Given the description of an element on the screen output the (x, y) to click on. 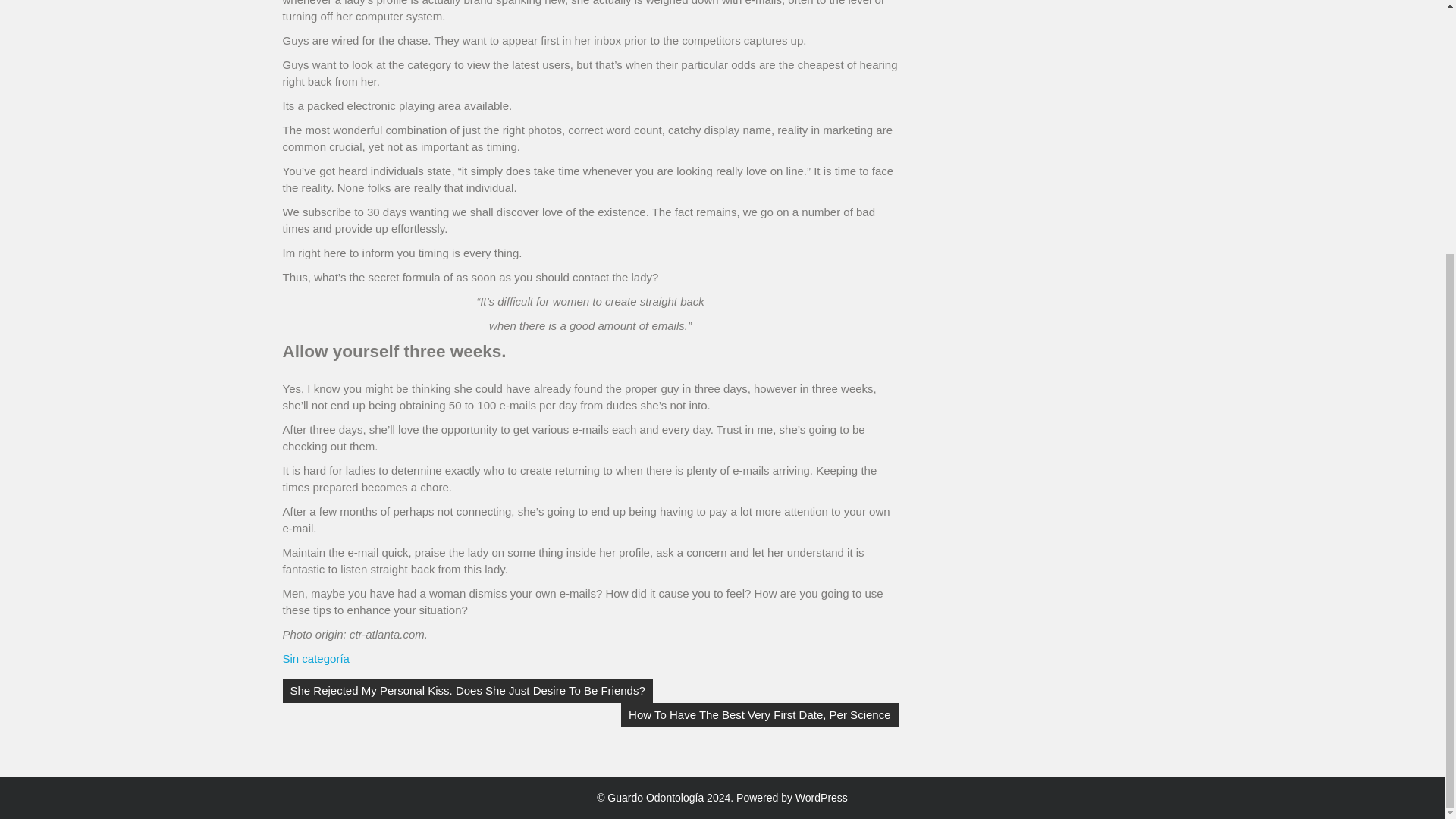
How To Have The Best Very First Date, Per Science (759, 714)
